Given the description of an element on the screen output the (x, y) to click on. 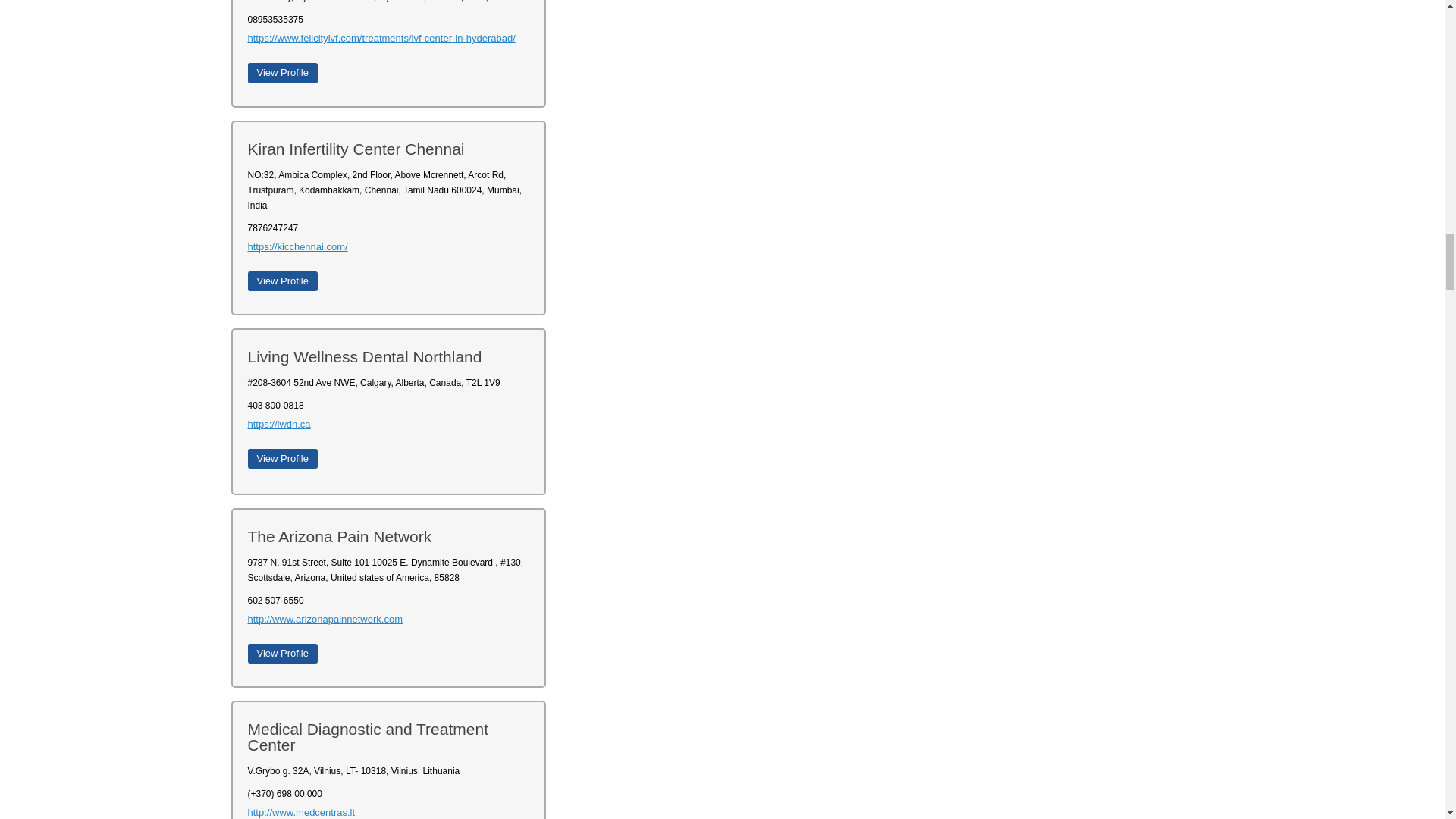
Click here to view profile (282, 281)
Click here to view profile (282, 653)
Click here to view profile (282, 72)
Click here to view profile (282, 458)
